Given the description of an element on the screen output the (x, y) to click on. 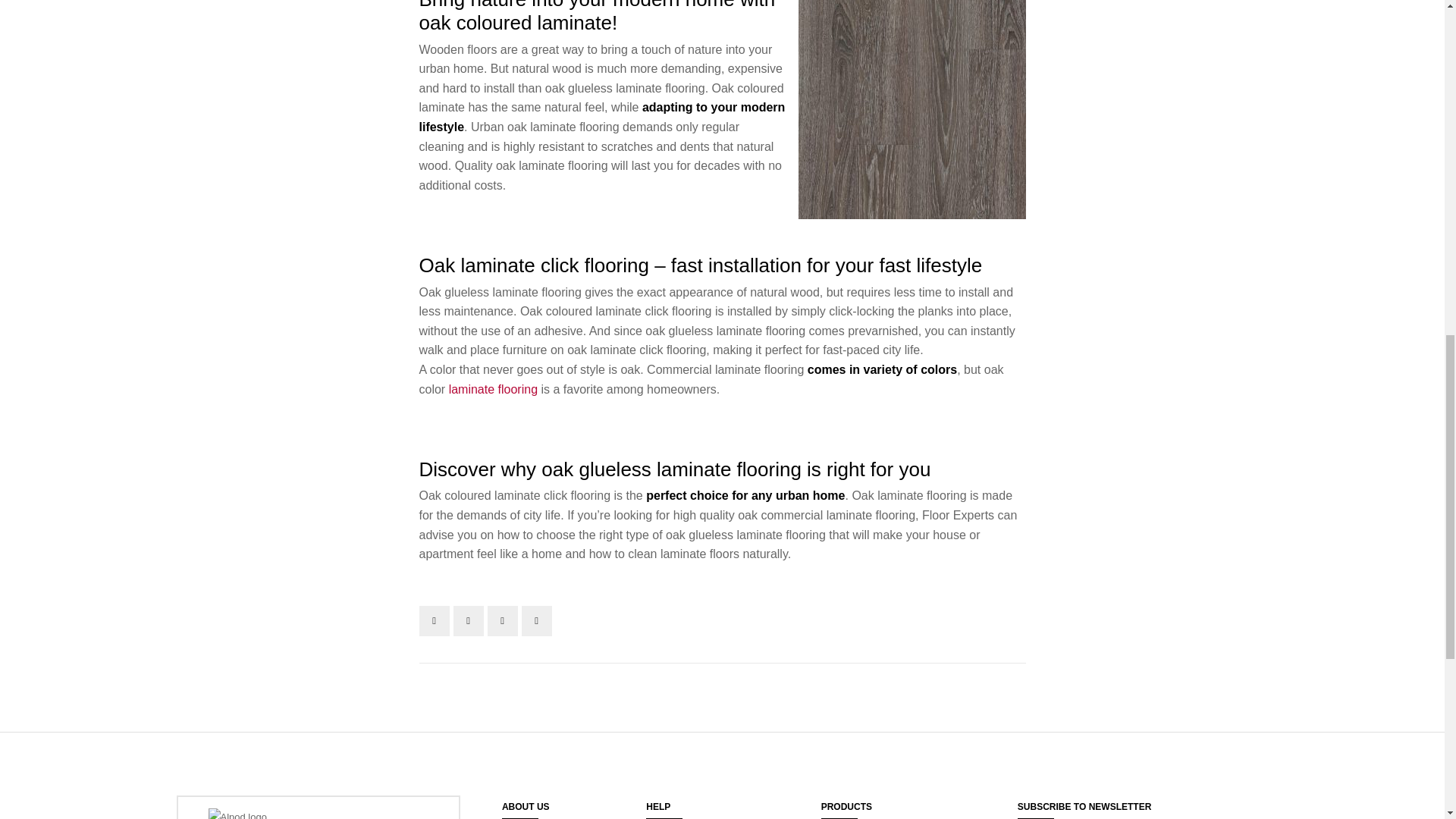
Pinterest (536, 621)
Twitter (467, 621)
Oak glueless laminate flooring (911, 109)
Facebook (433, 621)
LinkedIn (501, 621)
